Given the description of an element on the screen output the (x, y) to click on. 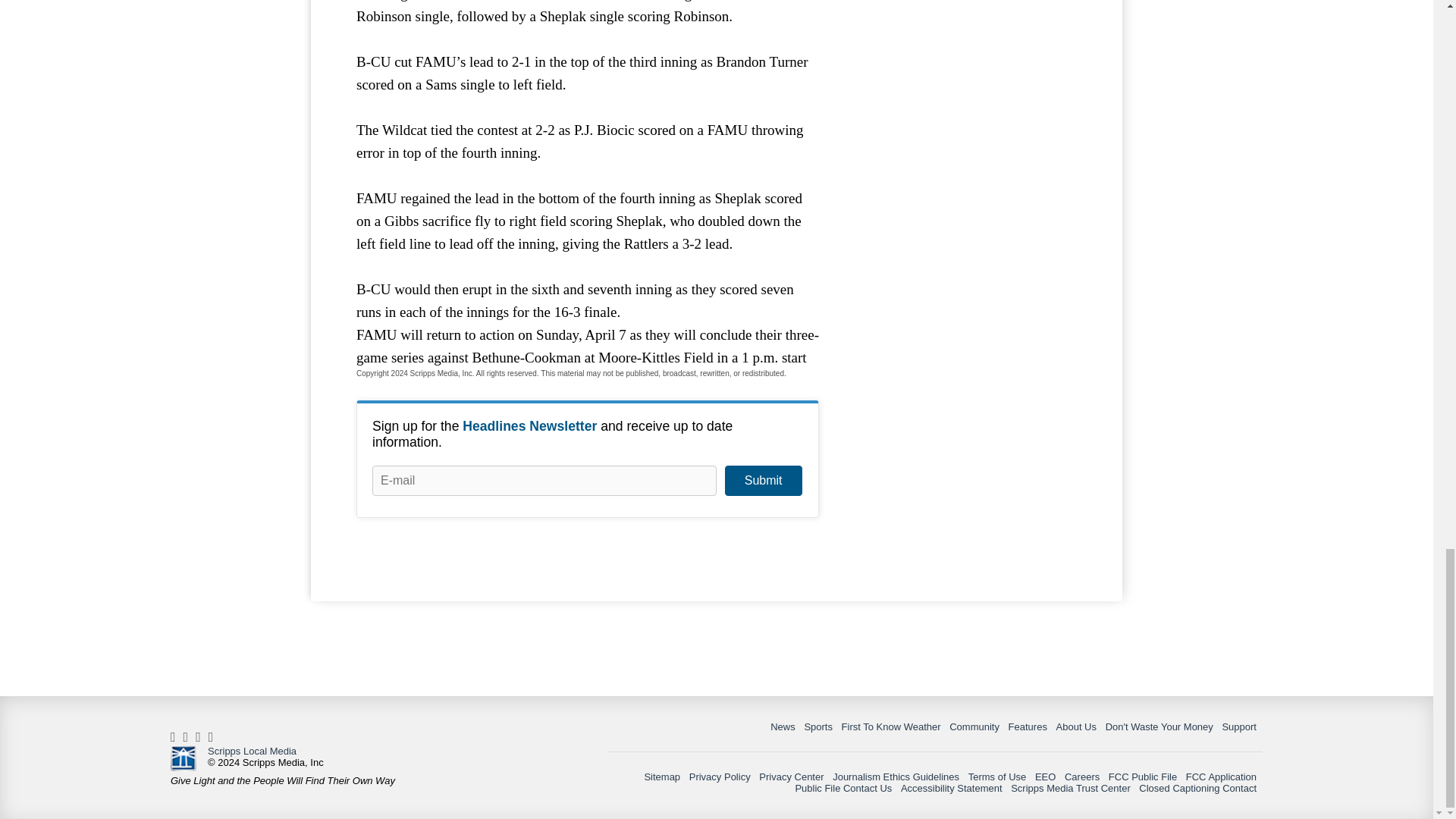
Submit (763, 481)
